Given the description of an element on the screen output the (x, y) to click on. 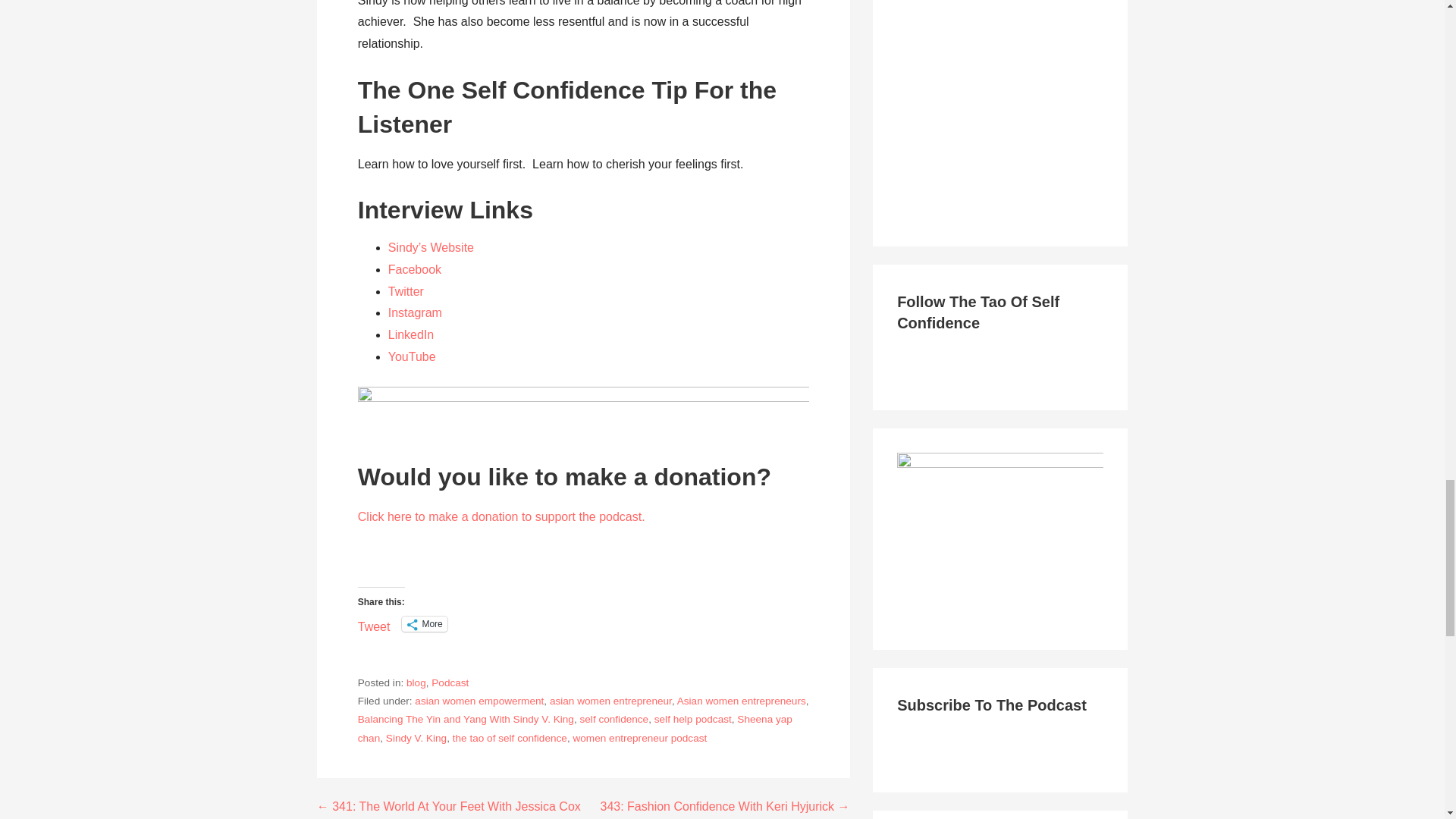
Balancing The Yin and Yang With Sindy V. King (465, 718)
Tweet (374, 622)
Facebook (414, 269)
Sindy V. King (415, 737)
Click here to make a donation to support the podcast. (501, 516)
Twitter (405, 291)
Asian women entrepreneurs (741, 700)
self confidence (613, 718)
LinkedIn (410, 334)
Sheena yap chan (575, 727)
